Given the description of an element on the screen output the (x, y) to click on. 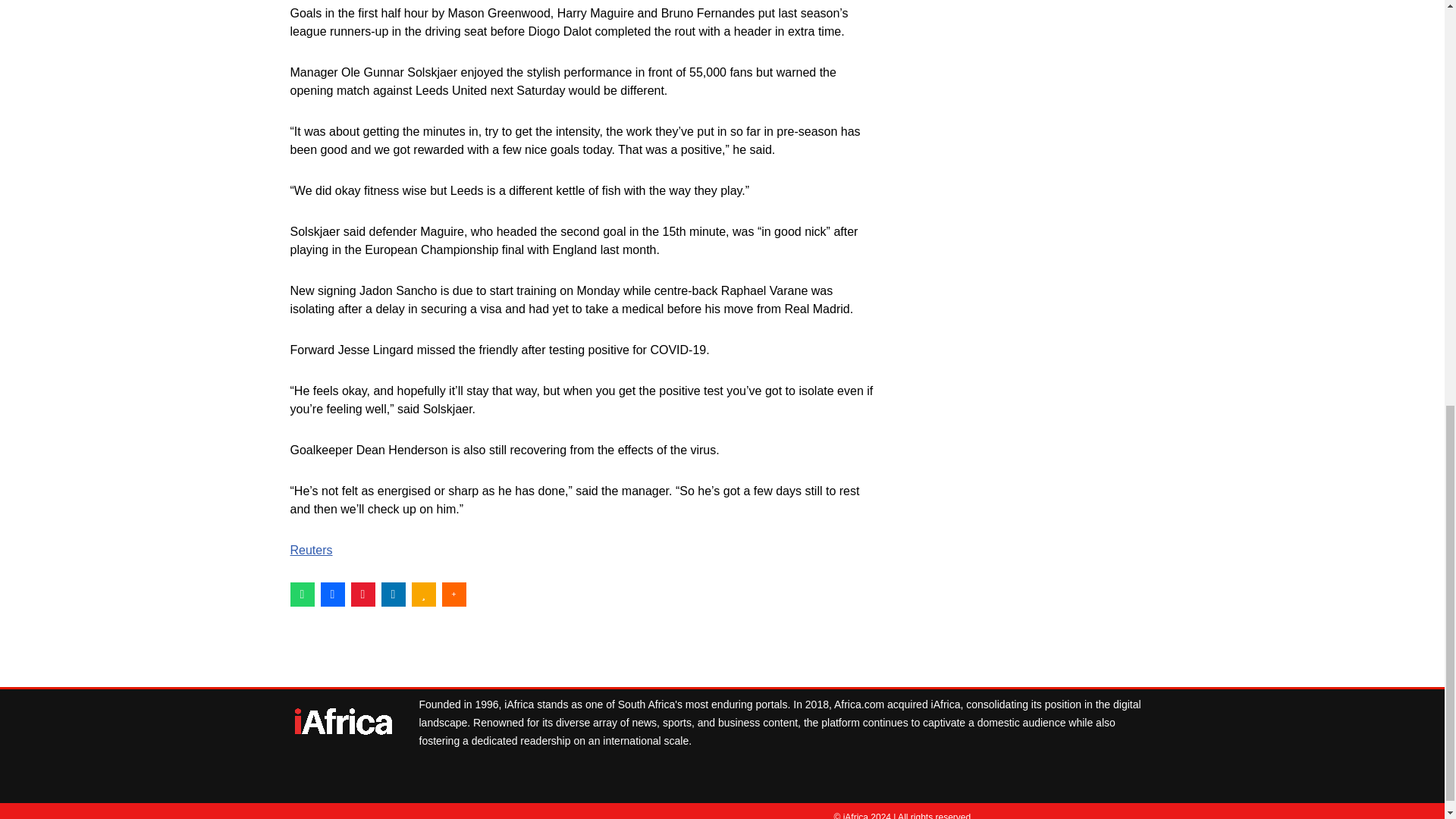
Add this to LinkedIn (392, 594)
Reuters (310, 549)
More share links (453, 594)
Add to favorites (422, 594)
Share this on Facebook (331, 594)
WhatsApp (301, 594)
Convert to PDF (362, 594)
